Given the description of an element on the screen output the (x, y) to click on. 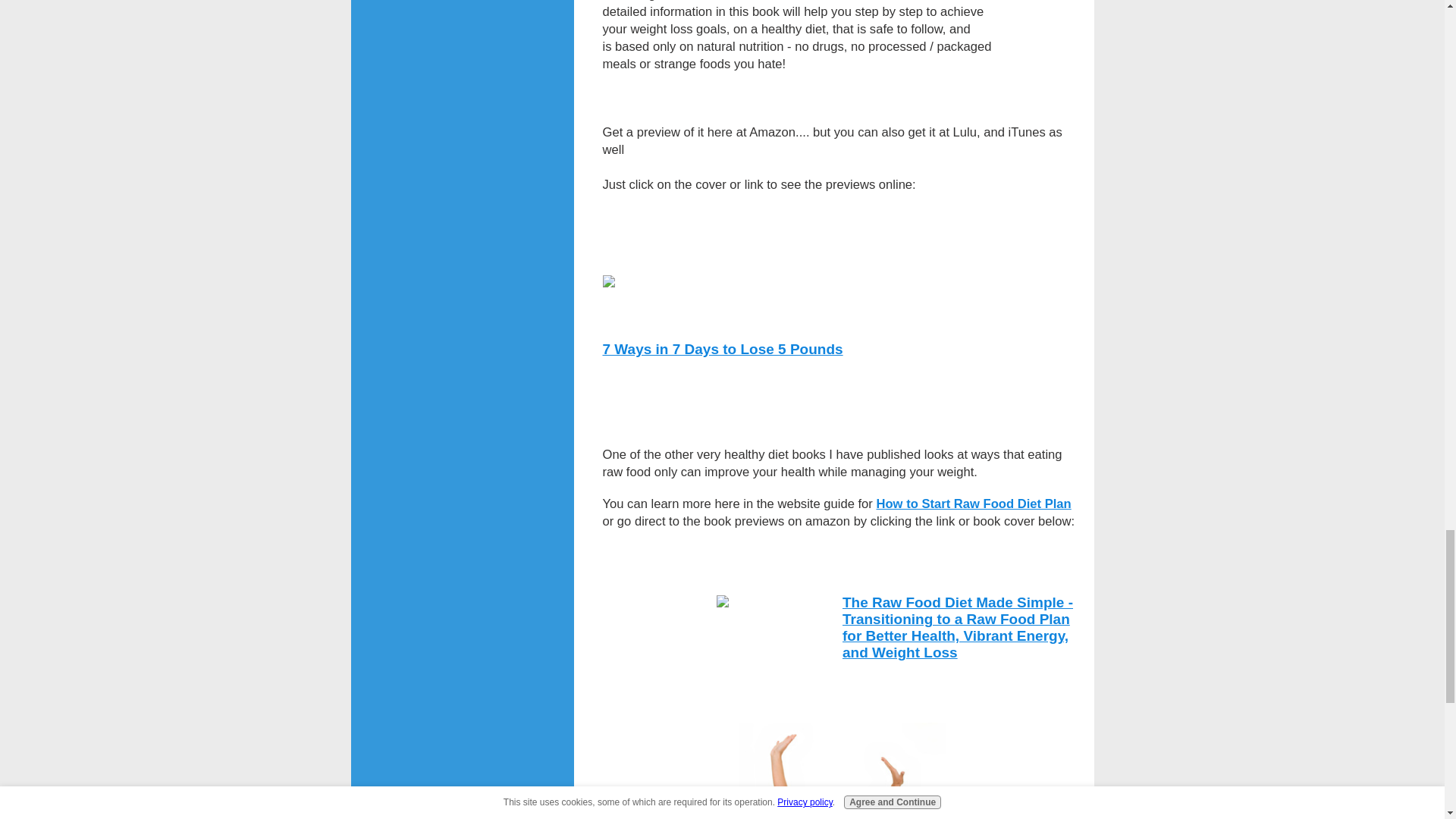
How to Start Raw Food Diet Plan (973, 503)
7 Ways in 7 Days to Lose 5 Pounds (722, 349)
